Given the description of an element on the screen output the (x, y) to click on. 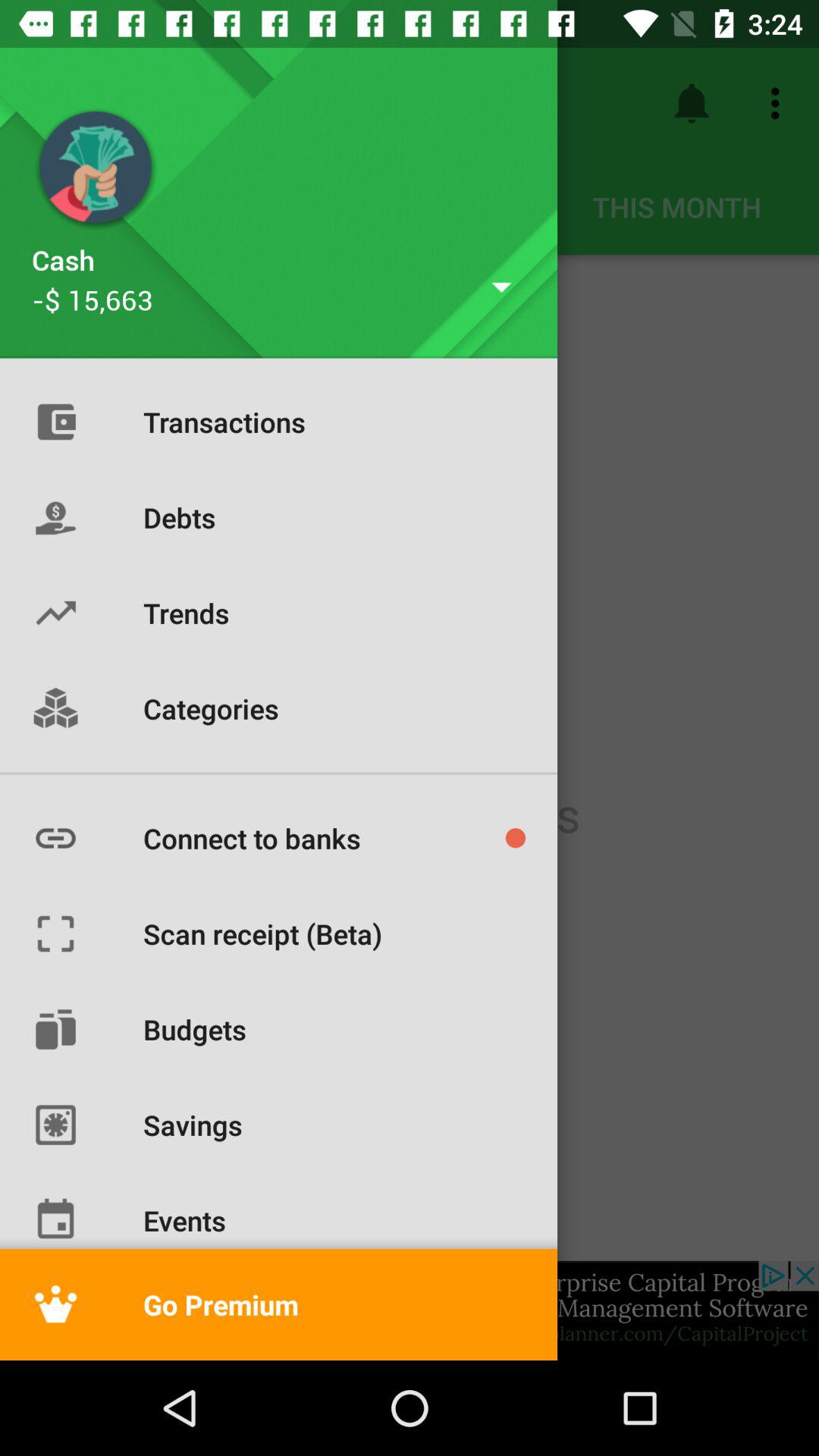
click on the crown image option to the left of go premium text (55, 1305)
select the icon above the text this month (691, 103)
